Given the description of an element on the screen output the (x, y) to click on. 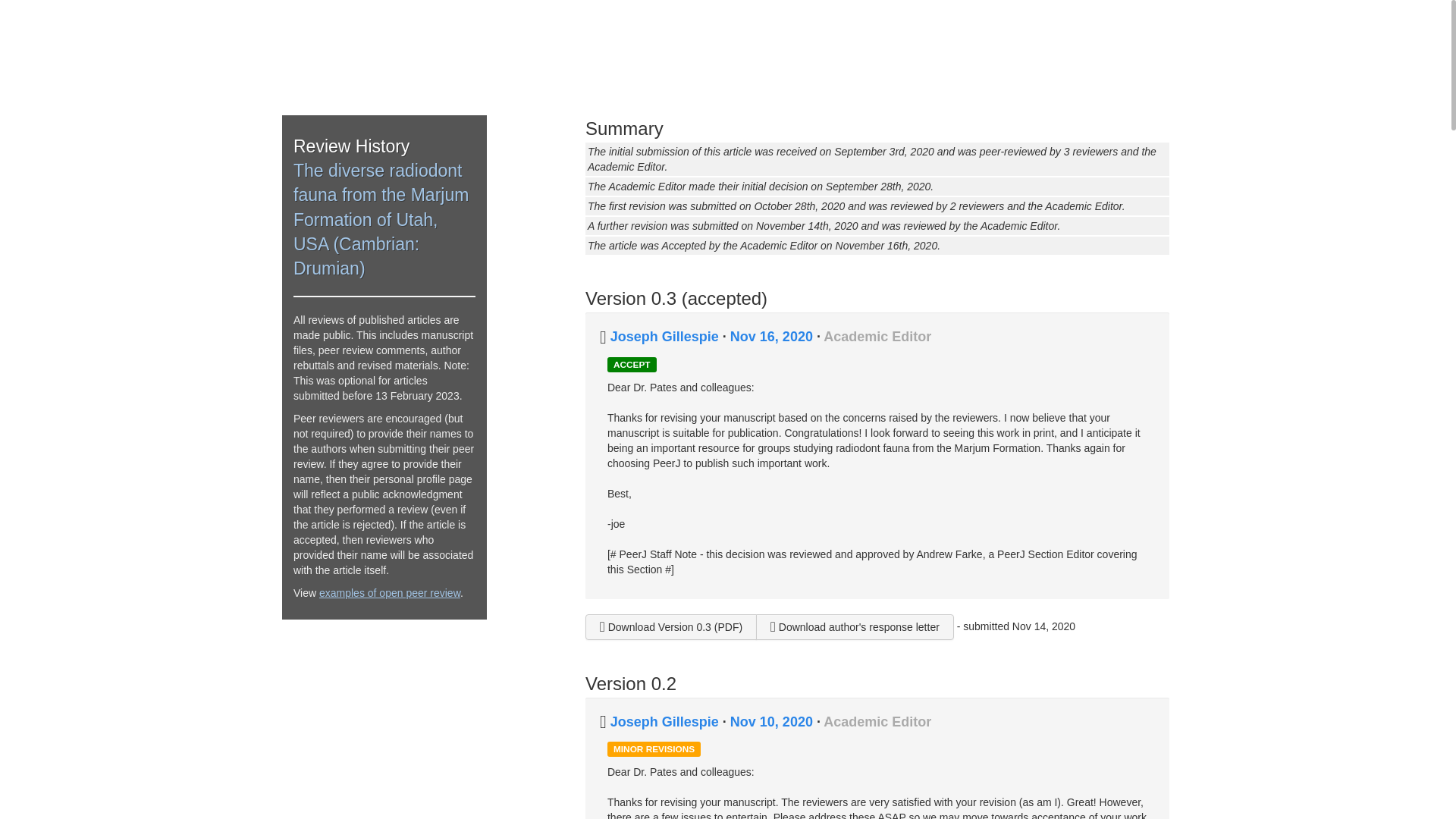
Joseph Gillespie (664, 721)
Nov 16, 2020 (773, 336)
Joseph Gillespie (664, 336)
Download author's response letter (854, 626)
examples of open peer review (389, 592)
Nov 10, 2020 (773, 721)
